Given the description of an element on the screen output the (x, y) to click on. 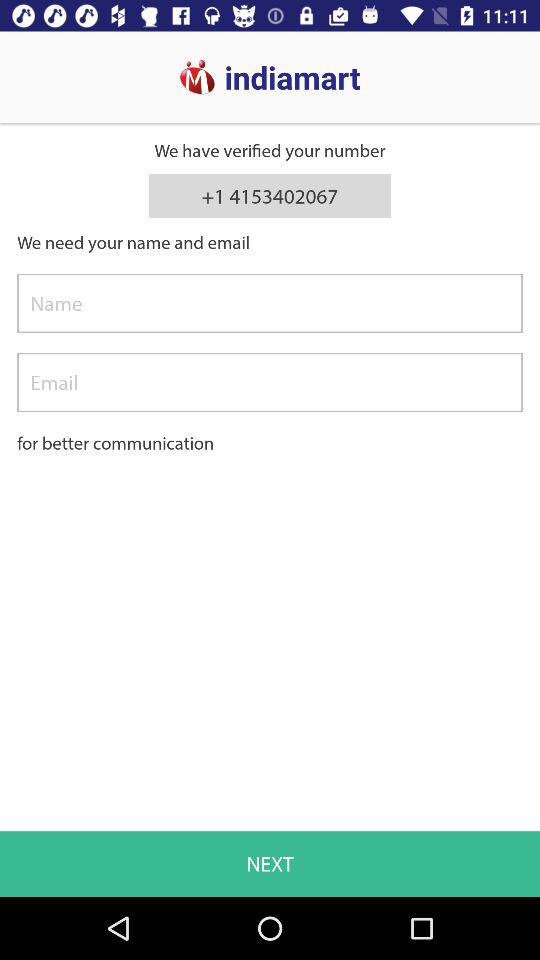
type the email (269, 382)
